Given the description of an element on the screen output the (x, y) to click on. 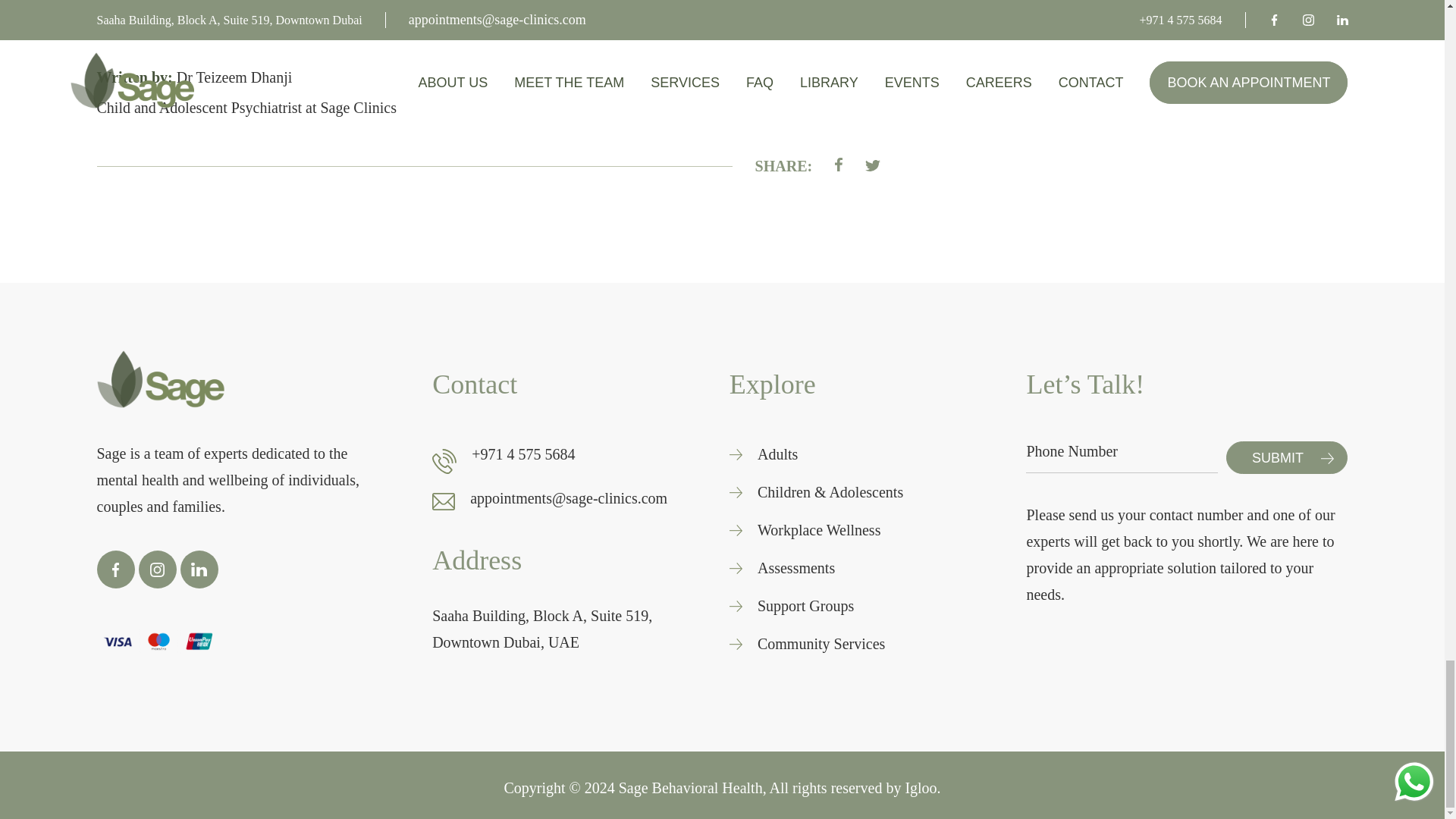
Submit (1286, 457)
Community Services (821, 643)
Assessments (795, 568)
Support Groups (805, 605)
Workplace Wellness (818, 529)
Adults (777, 454)
